Given the description of an element on the screen output the (x, y) to click on. 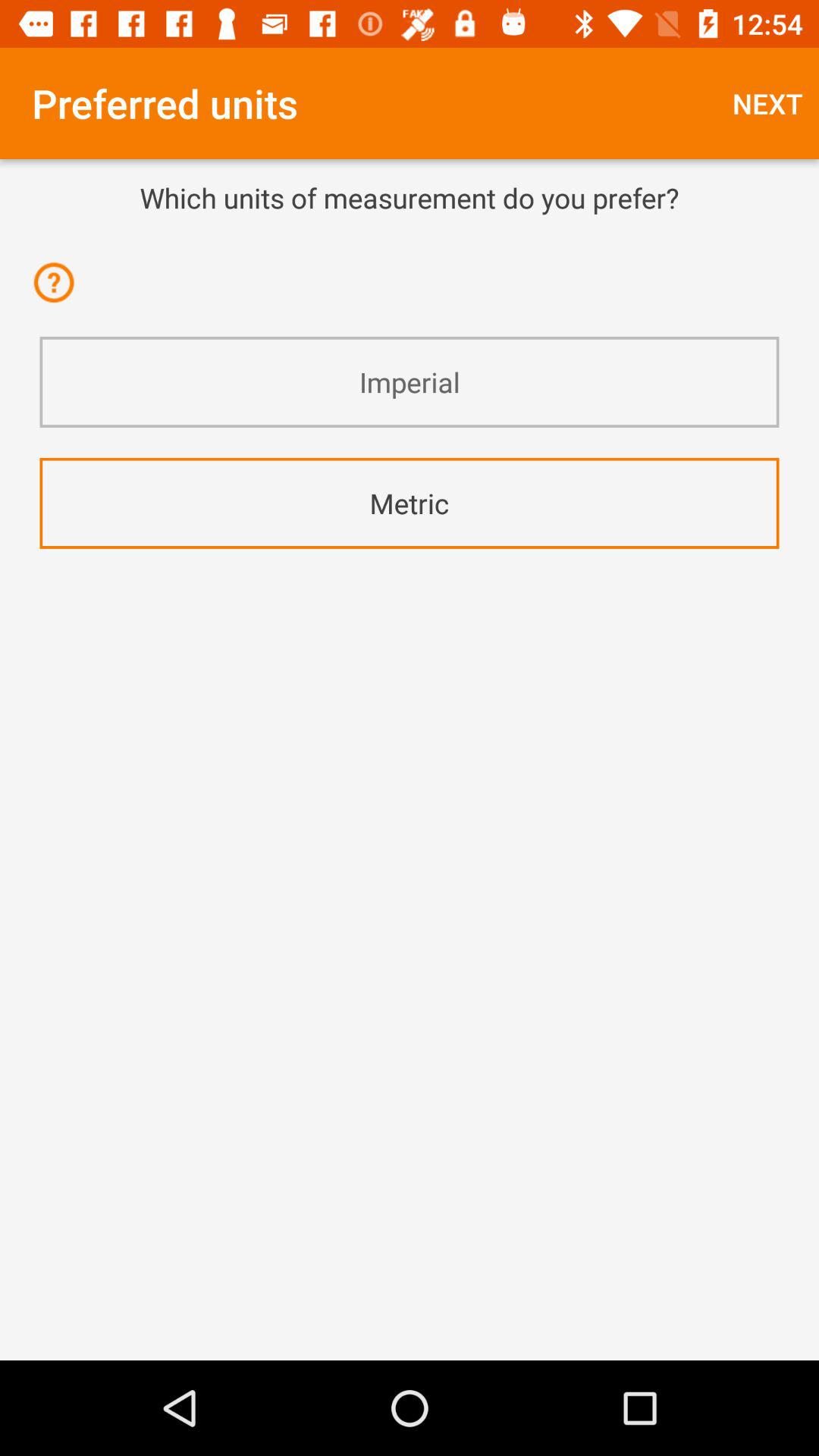
flip to the which units of item (409, 197)
